Given the description of an element on the screen output the (x, y) to click on. 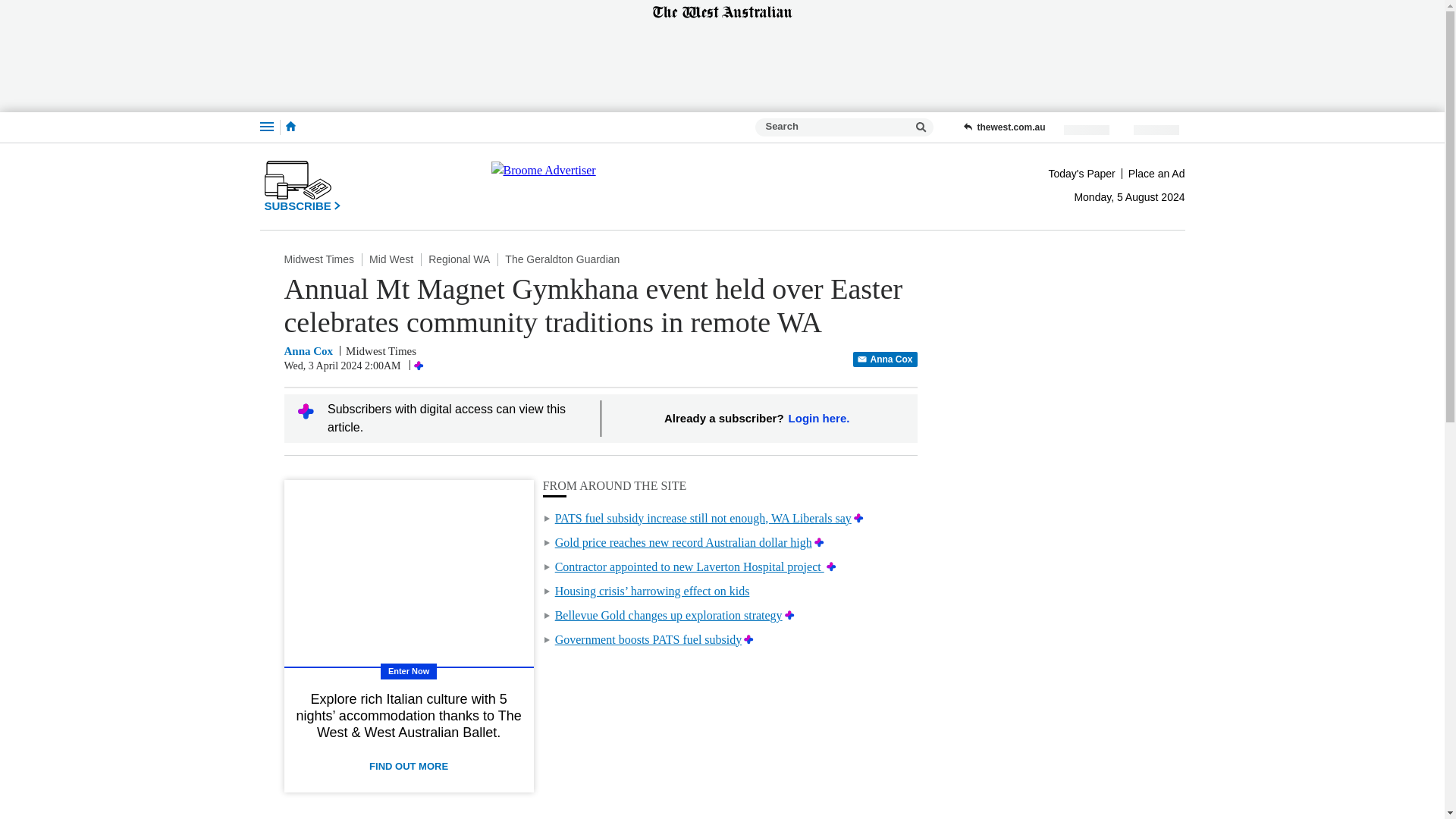
Premium (831, 566)
Home (290, 126)
Home (290, 126)
Premium (789, 615)
SUBSCRIBE CHEVRON RIGHT ICON (302, 185)
Please enter a search term. (921, 127)
Premium (818, 542)
Premium (748, 639)
Premium (857, 517)
thewest.com.au (1004, 127)
